Given the description of an element on the screen output the (x, y) to click on. 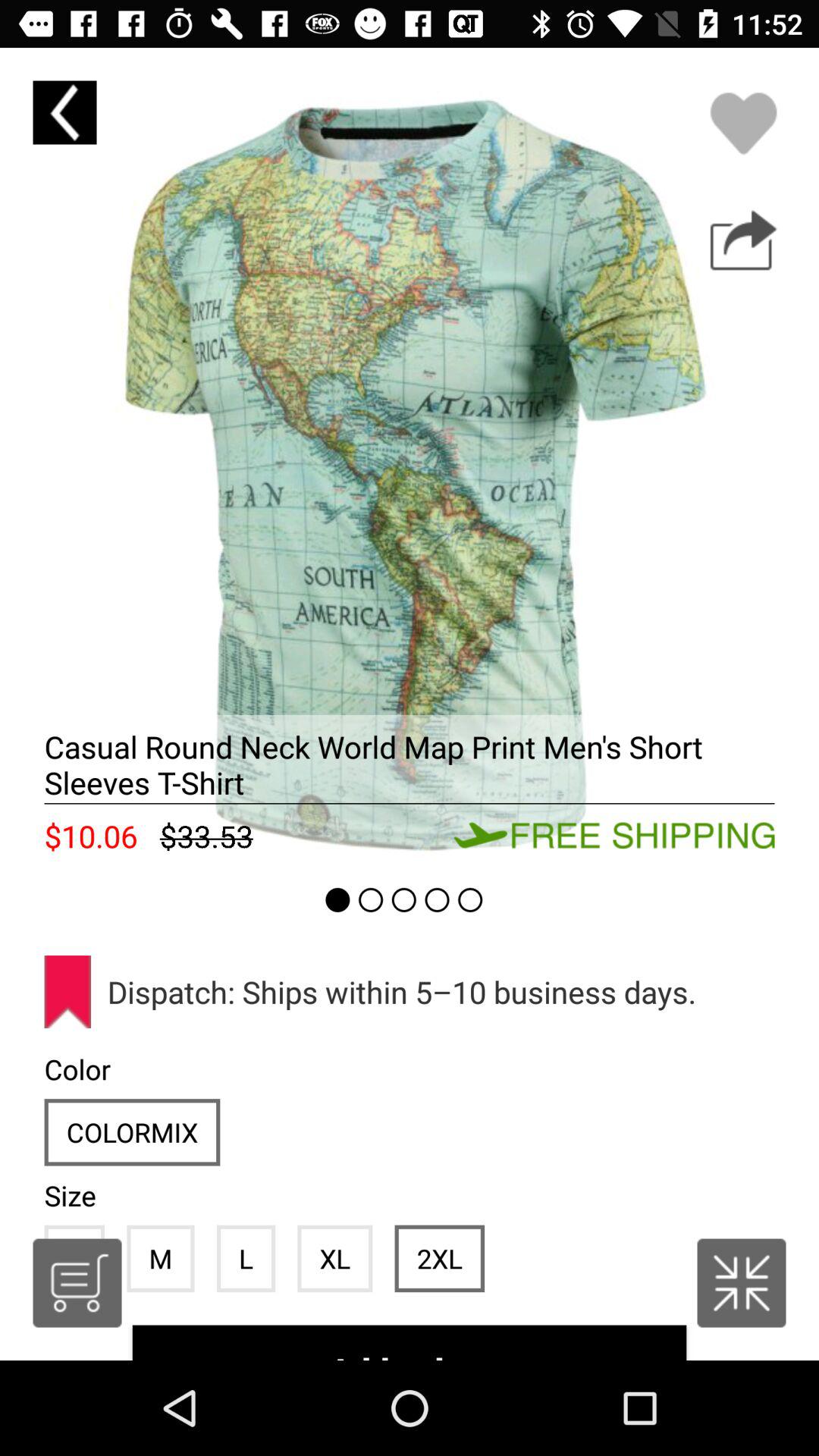
see closeup view (409, 456)
